Given the description of an element on the screen output the (x, y) to click on. 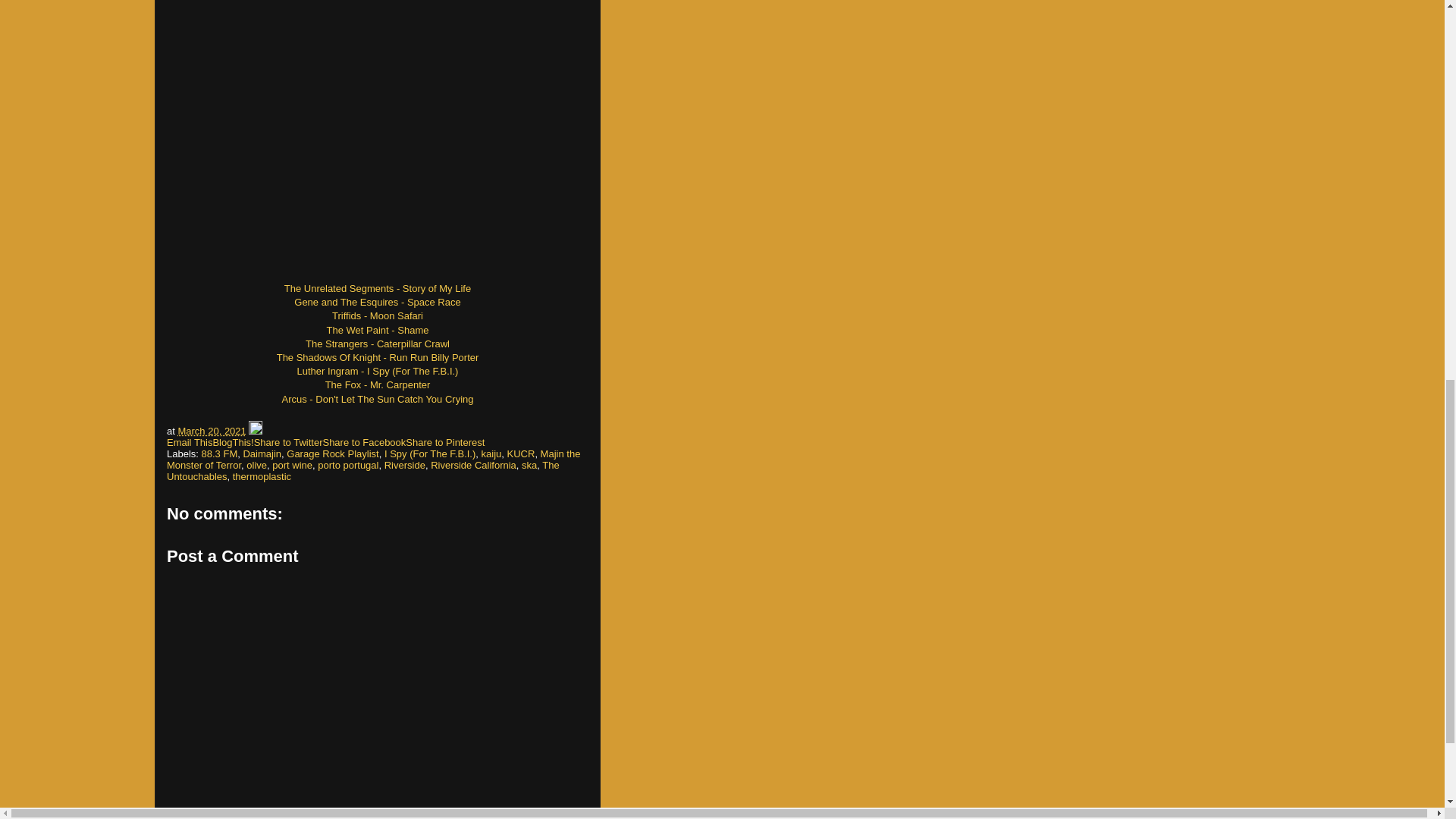
permanent link (211, 430)
Daimajin (262, 453)
The Unrelated Segments - Story of My Life (376, 288)
kaiju (491, 453)
Share to Twitter (288, 441)
Edit Post (255, 430)
The Shadows Of Knight - Run Run Billy Porter (377, 357)
Triffids - Moon Safari (377, 315)
Share to Pinterest (445, 441)
The Strangers - Caterpillar Crawl (377, 343)
